Given the description of an element on the screen output the (x, y) to click on. 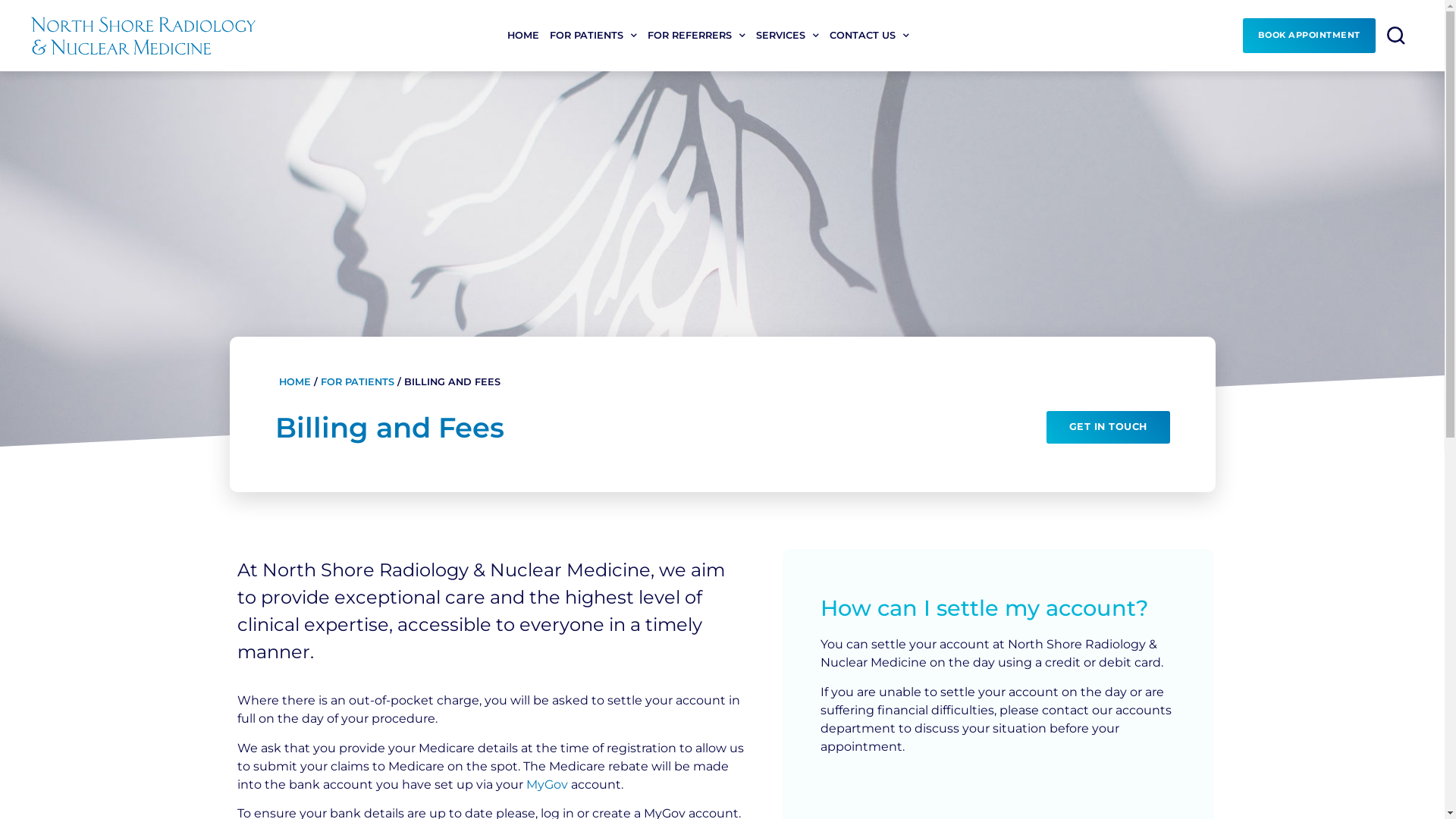
HOME Element type: text (294, 381)
CONTACT US Element type: text (869, 35)
MyGov Element type: text (546, 784)
BOOK APPOINTMENT Element type: text (1308, 35)
FOR PATIENTS Element type: text (593, 35)
FOR PATIENTS Element type: text (356, 381)
FOR REFERRERS Element type: text (696, 35)
HOME Element type: text (523, 35)
SERVICES Element type: text (787, 35)
GET IN TOUCH Element type: text (1108, 427)
